Given the description of an element on the screen output the (x, y) to click on. 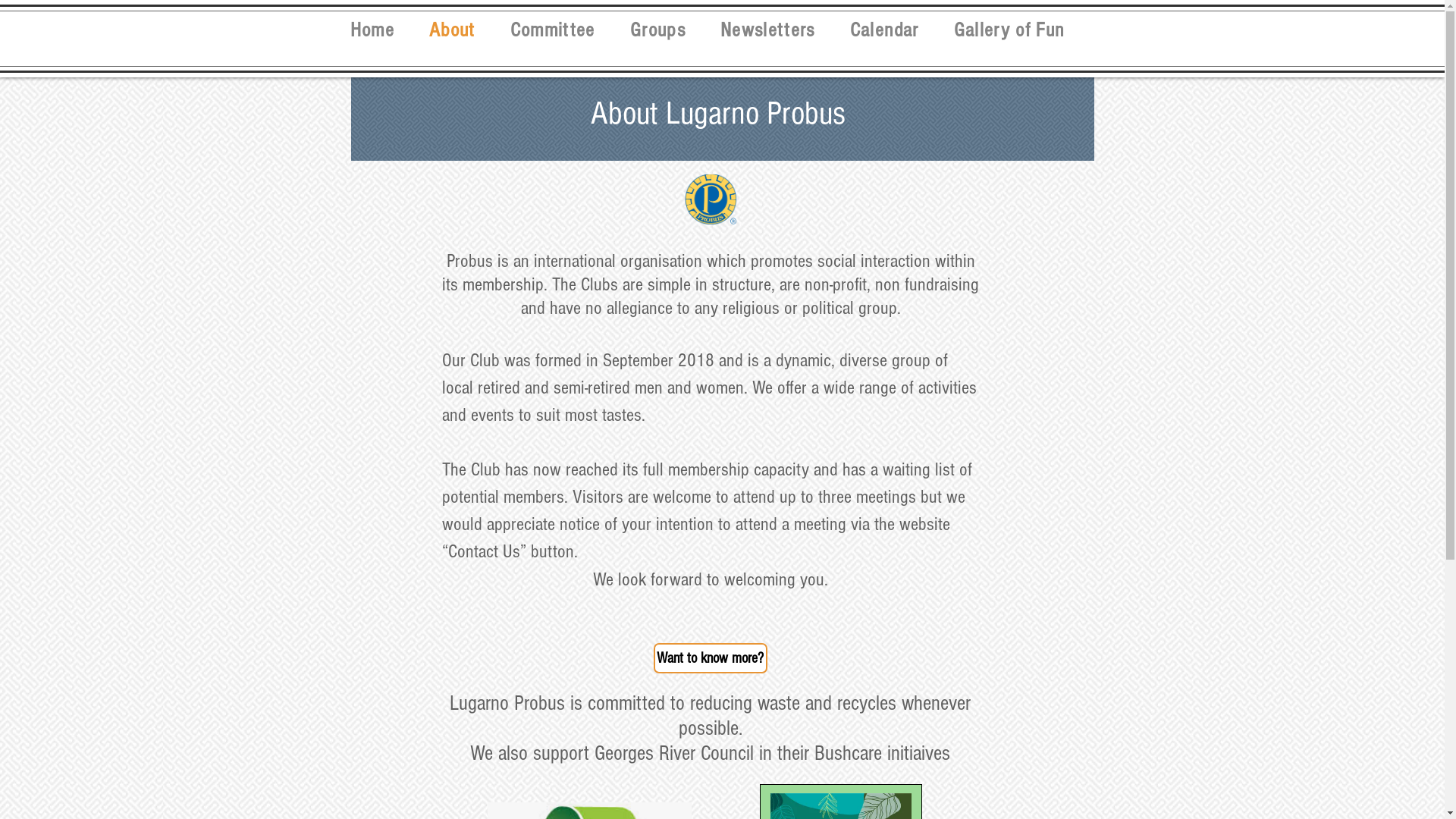
Home Element type: text (371, 30)
Want to know more? Element type: text (710, 658)
Gallery of Fun Element type: text (1009, 30)
About Element type: text (451, 30)
Newsletters Element type: text (767, 30)
Committee Element type: text (552, 30)
Calendar Element type: text (884, 30)
Groups Element type: text (657, 30)
